Given the description of an element on the screen output the (x, y) to click on. 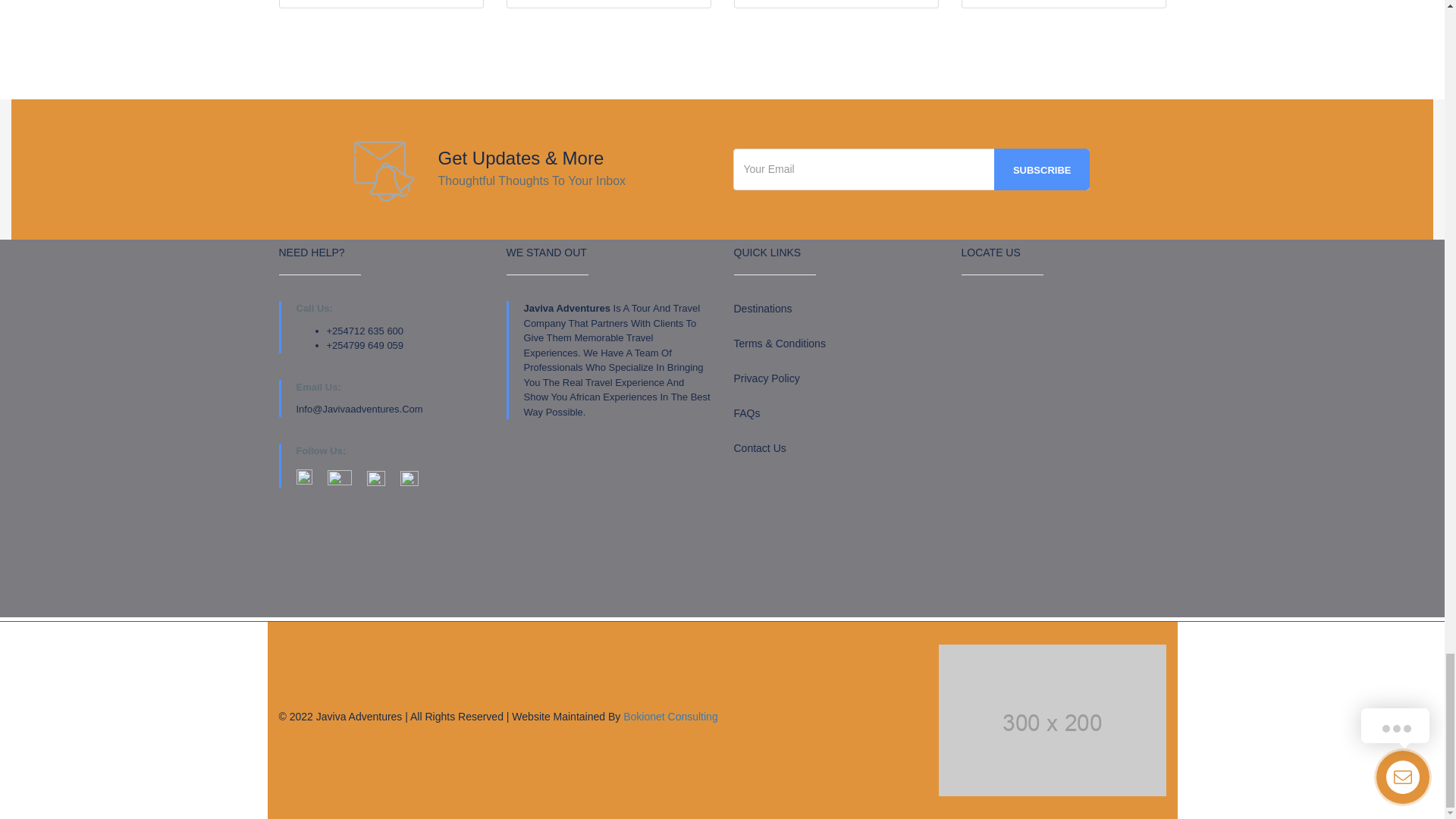
Subscribe (1042, 169)
